Given the description of an element on the screen output the (x, y) to click on. 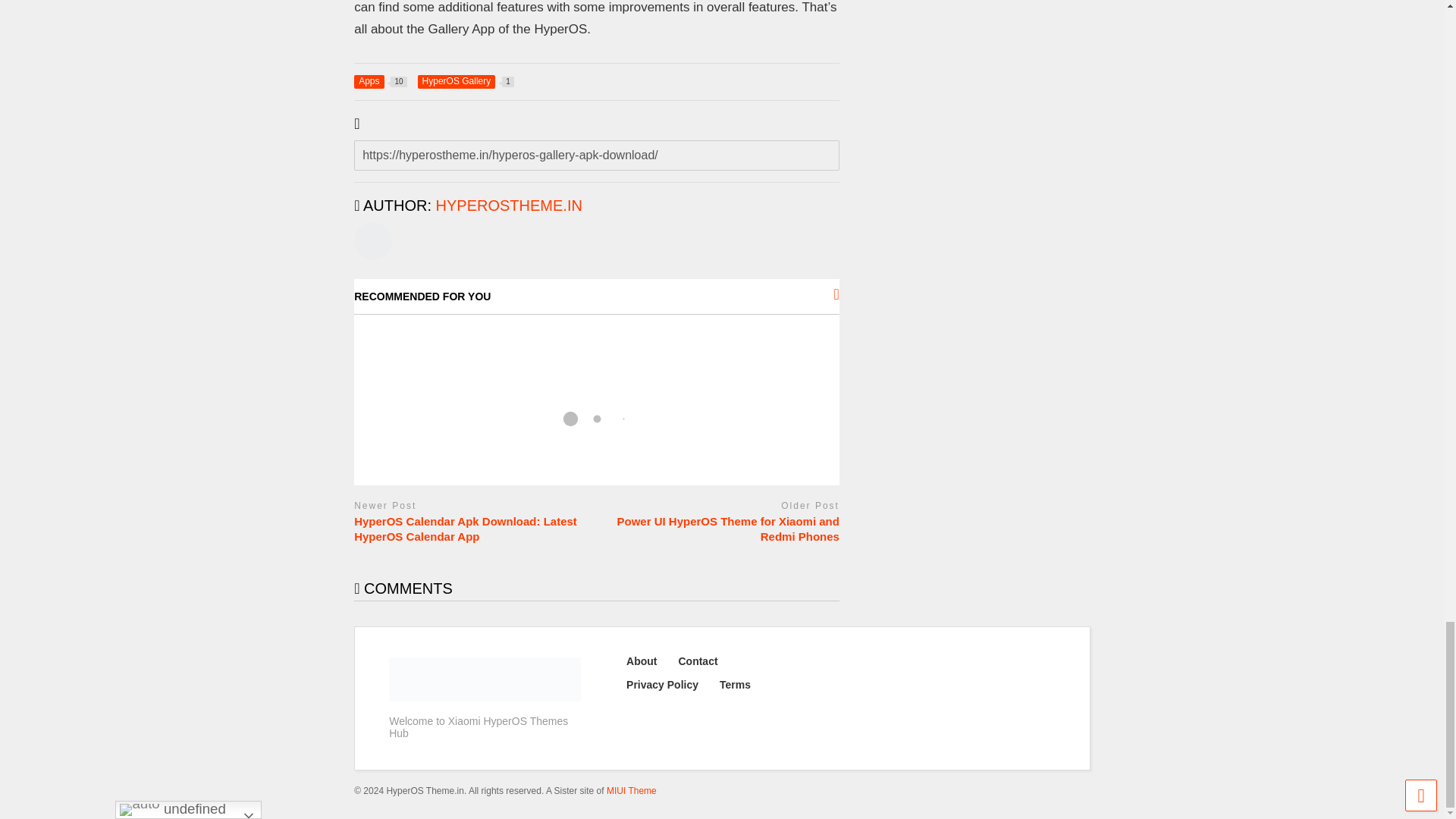
HyperOS Calendar Apk Download: Latest HyperOS Calendar App (471, 528)
Power UI HyperOS Theme for Xiaomi and Redmi Phones (722, 528)
HYPEROSTHEME.IN (508, 205)
author profile (465, 81)
